Given the description of an element on the screen output the (x, y) to click on. 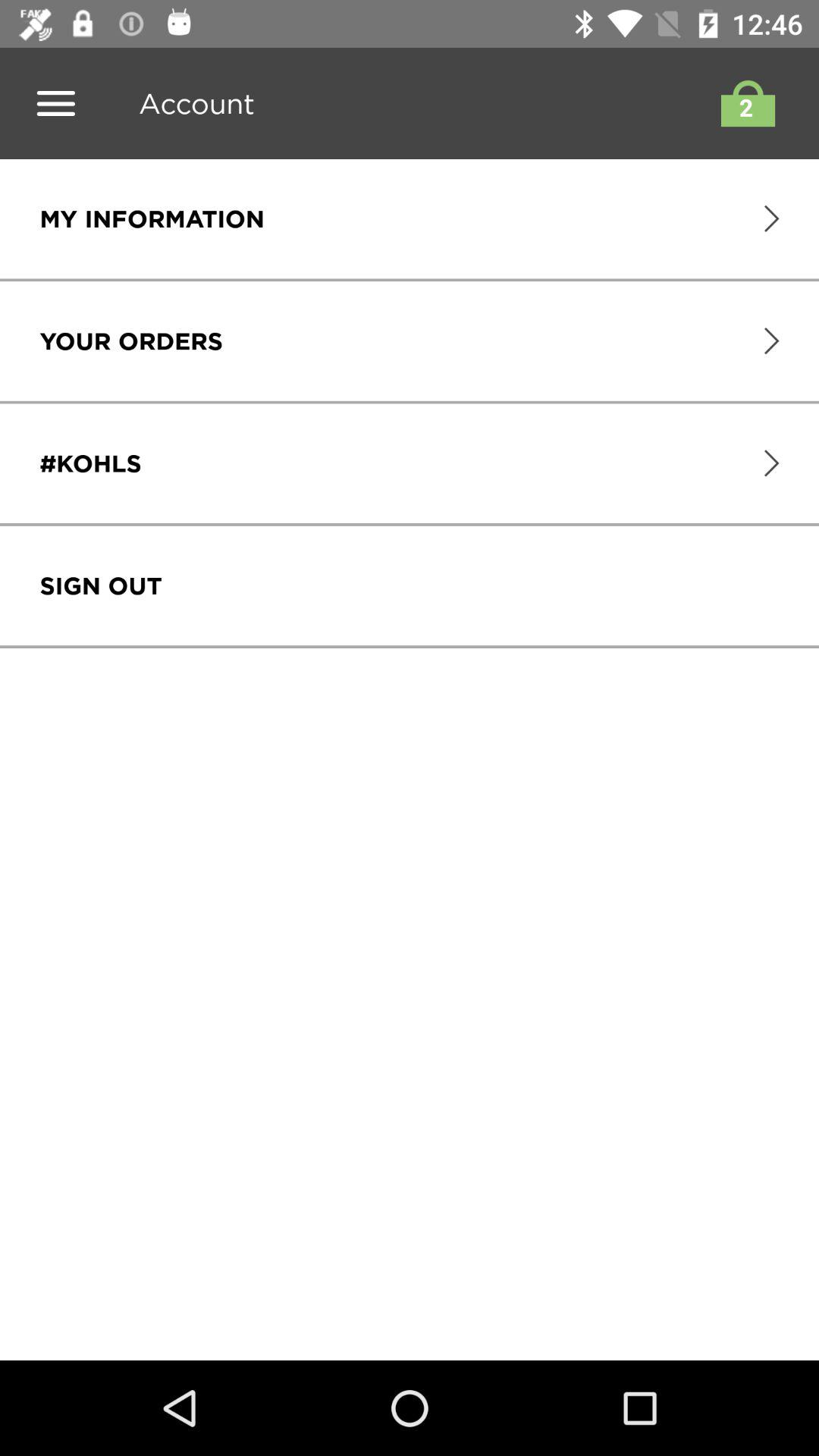
the lock symbol bar (744, 103)
